Given the description of an element on the screen output the (x, y) to click on. 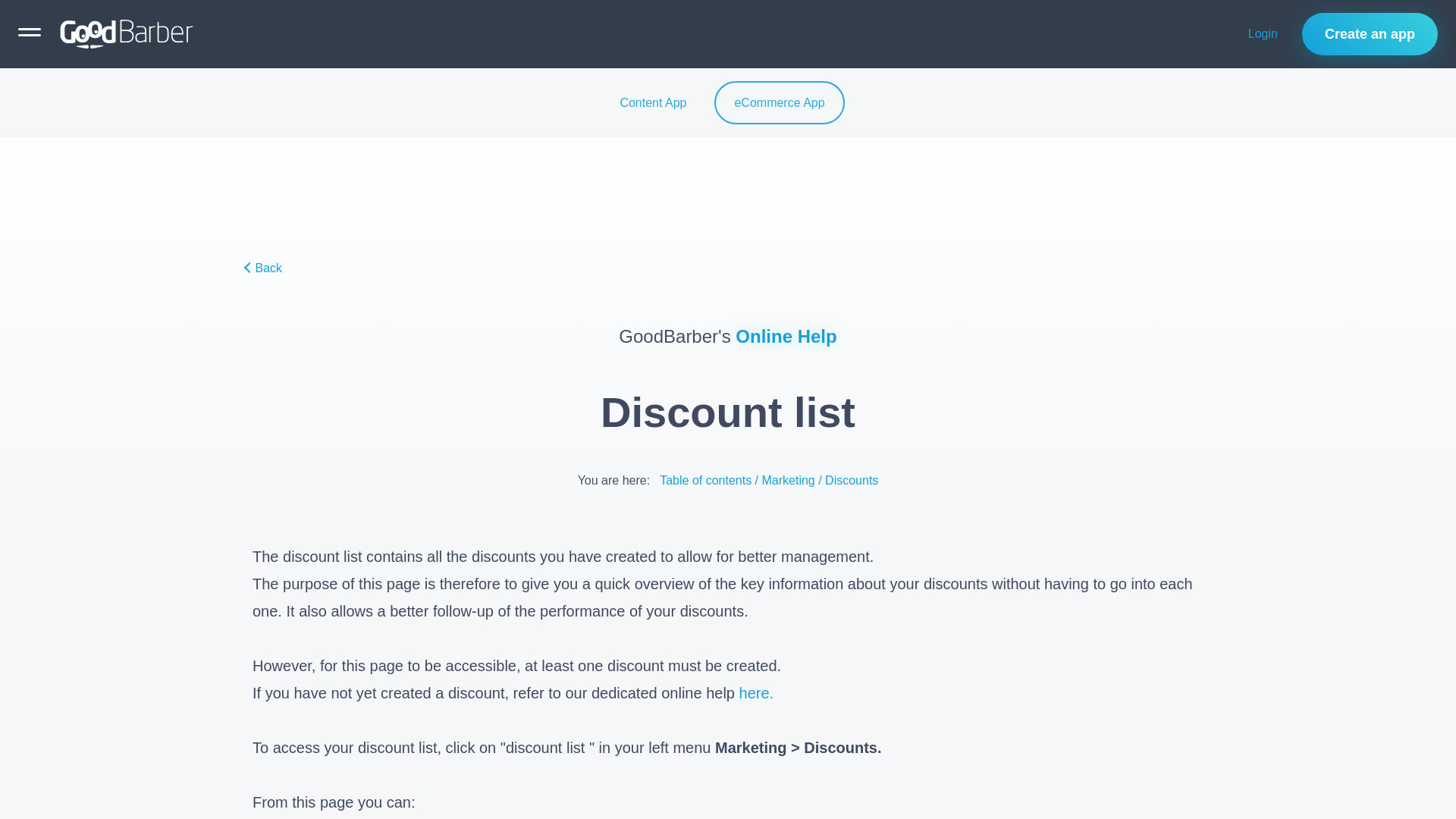
Create an app (1369, 34)
Login (1262, 34)
